Given the description of an element on the screen output the (x, y) to click on. 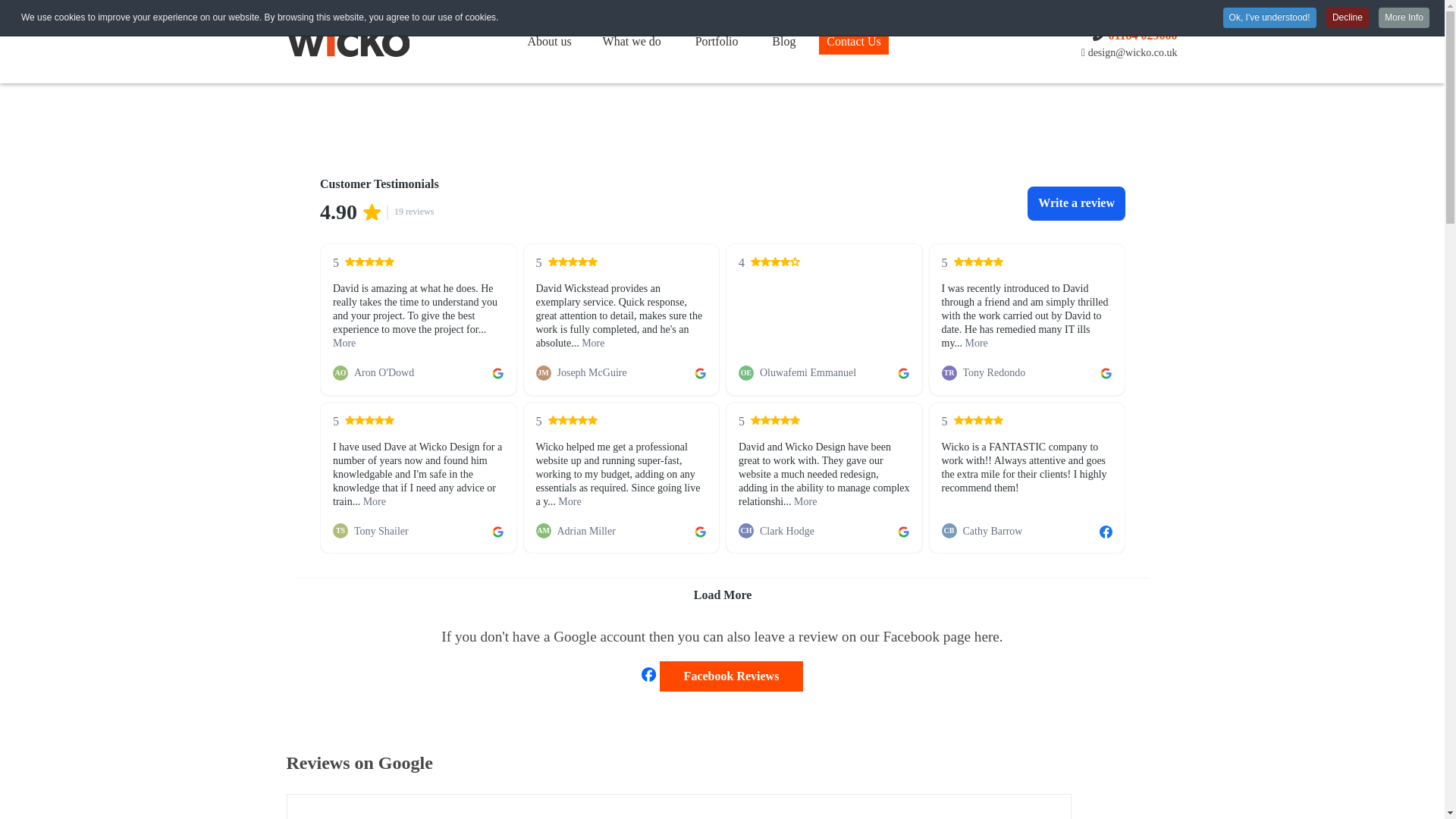
Blog (782, 43)
About us (549, 43)
Contact Us (853, 43)
Wicko Design (381, 37)
